Given the description of an element on the screen output the (x, y) to click on. 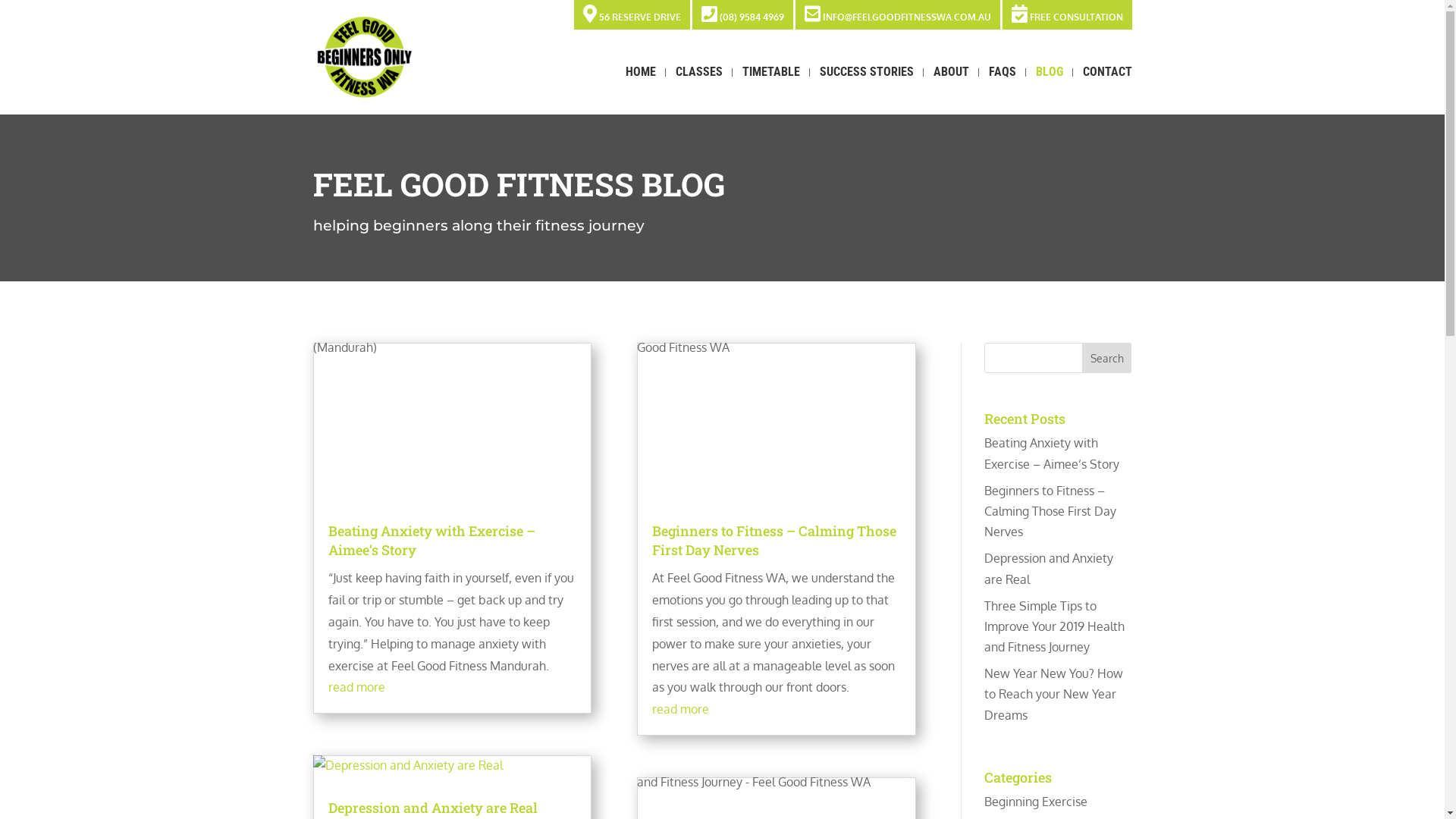
New Year New You? How to Reach your New Year Dreams Element type: text (1053, 693)
56 RESERVE DRIVE Element type: text (631, 14)
(08) 9584 4969 Element type: text (741, 14)
read more Element type: text (355, 686)
Depression and Anxiety are Real Element type: text (431, 807)
Depression and Anxiety are Real Element type: text (1048, 568)
TIMETABLE Element type: text (770, 90)
Search Element type: text (1107, 357)
FAQS Element type: text (1002, 90)
CONTACT Element type: text (1107, 90)
CLASSES Element type: text (697, 90)
FREE CONSULTATION Element type: text (1067, 14)
read more Element type: text (680, 708)
Beginning Exercise Element type: text (1035, 801)
HOME Element type: text (639, 90)
INFO@FEELGOODFITNESSWA.COM.AU Element type: text (896, 14)
SUCCESS STORIES Element type: text (866, 90)
ABOUT Element type: text (950, 90)
BLOG Element type: text (1049, 90)
